Given the description of an element on the screen output the (x, y) to click on. 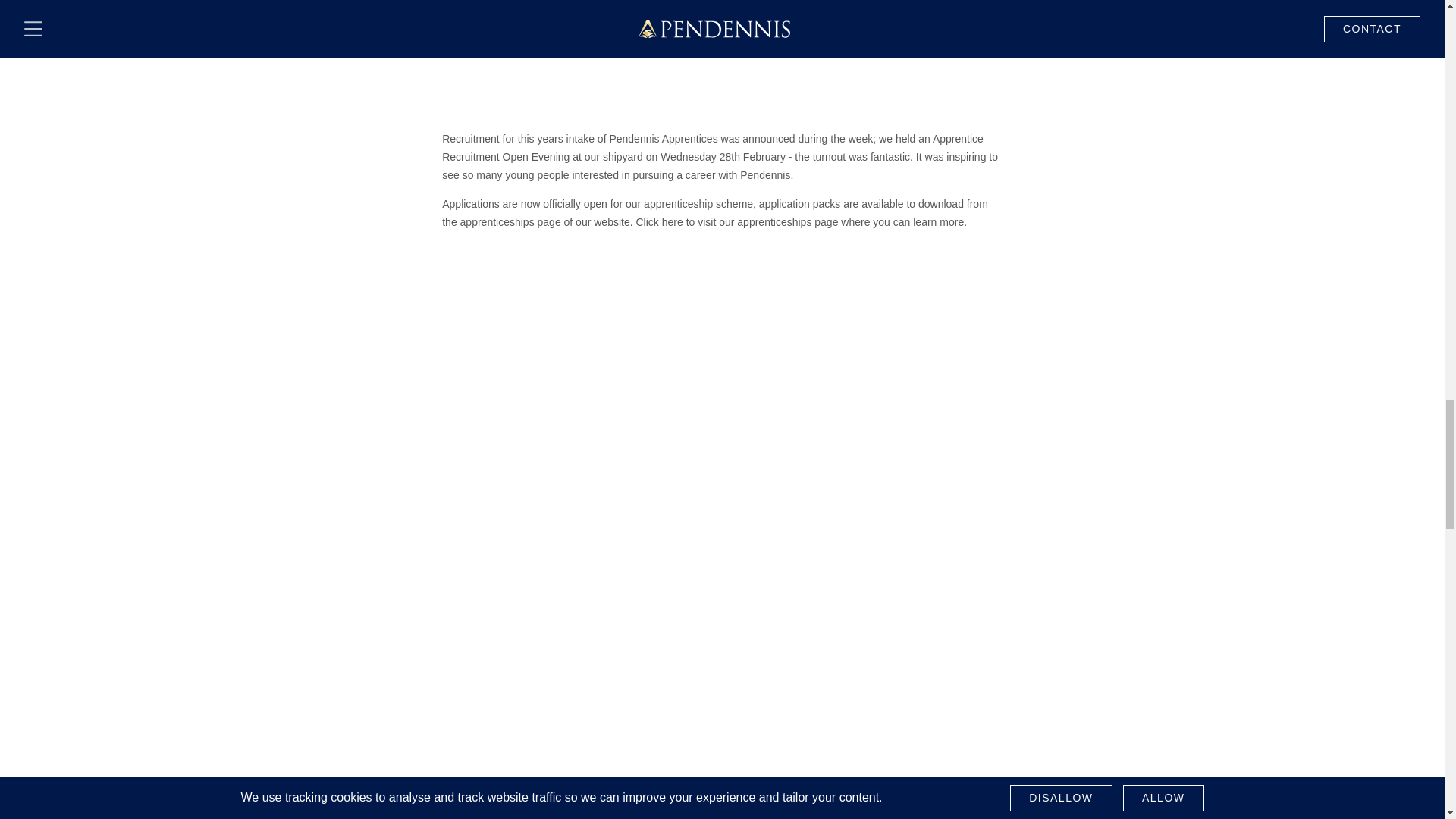
Click here to visit our apprenticeships page (737, 222)
